Given the description of an element on the screen output the (x, y) to click on. 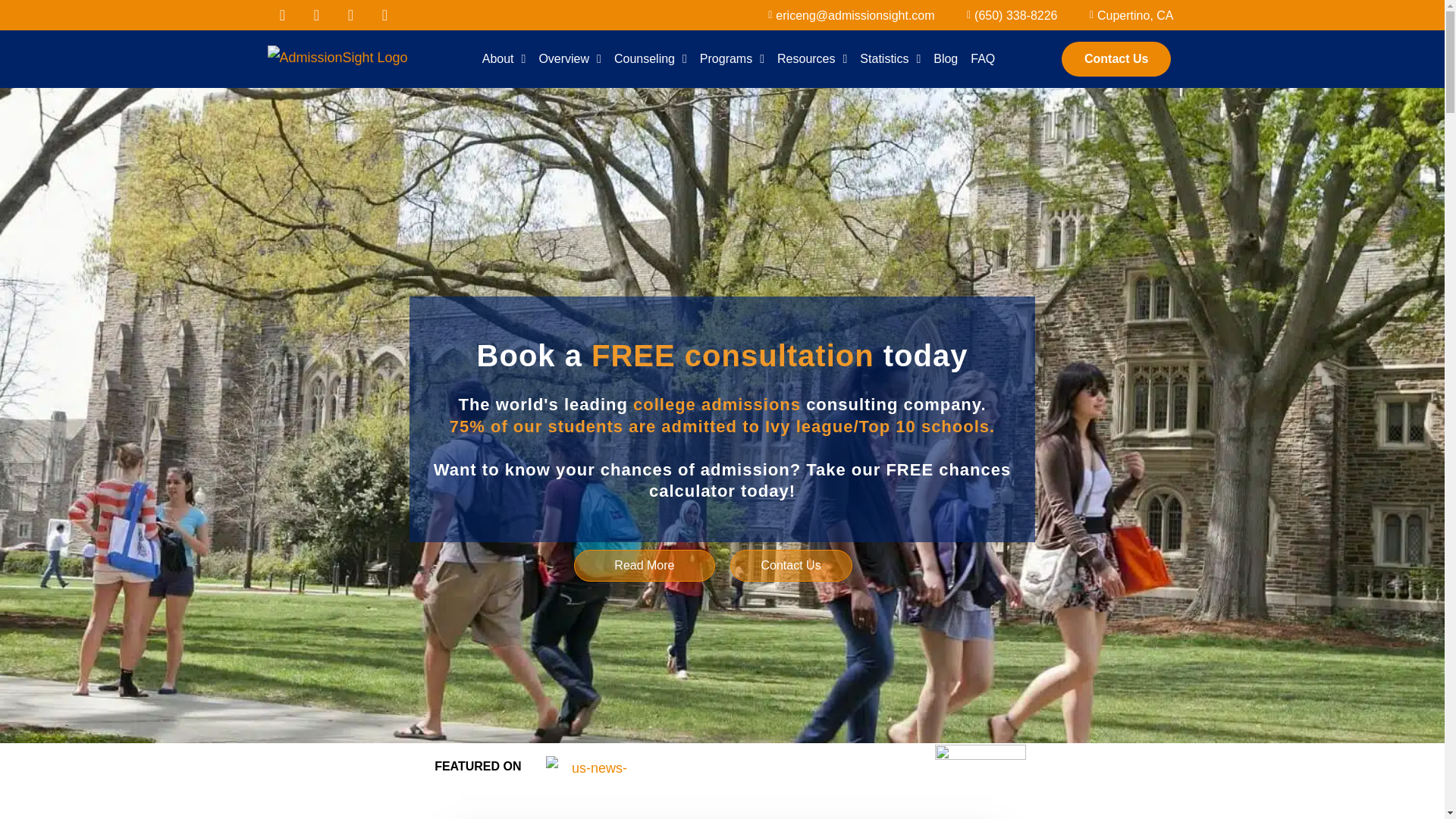
Linkedin (349, 15)
Twitter (316, 15)
Facebook (281, 15)
Programs (731, 59)
Counseling (650, 59)
Instagram (384, 15)
Overview (569, 59)
About (504, 59)
us-news-icon-n (593, 767)
